Given the description of an element on the screen output the (x, y) to click on. 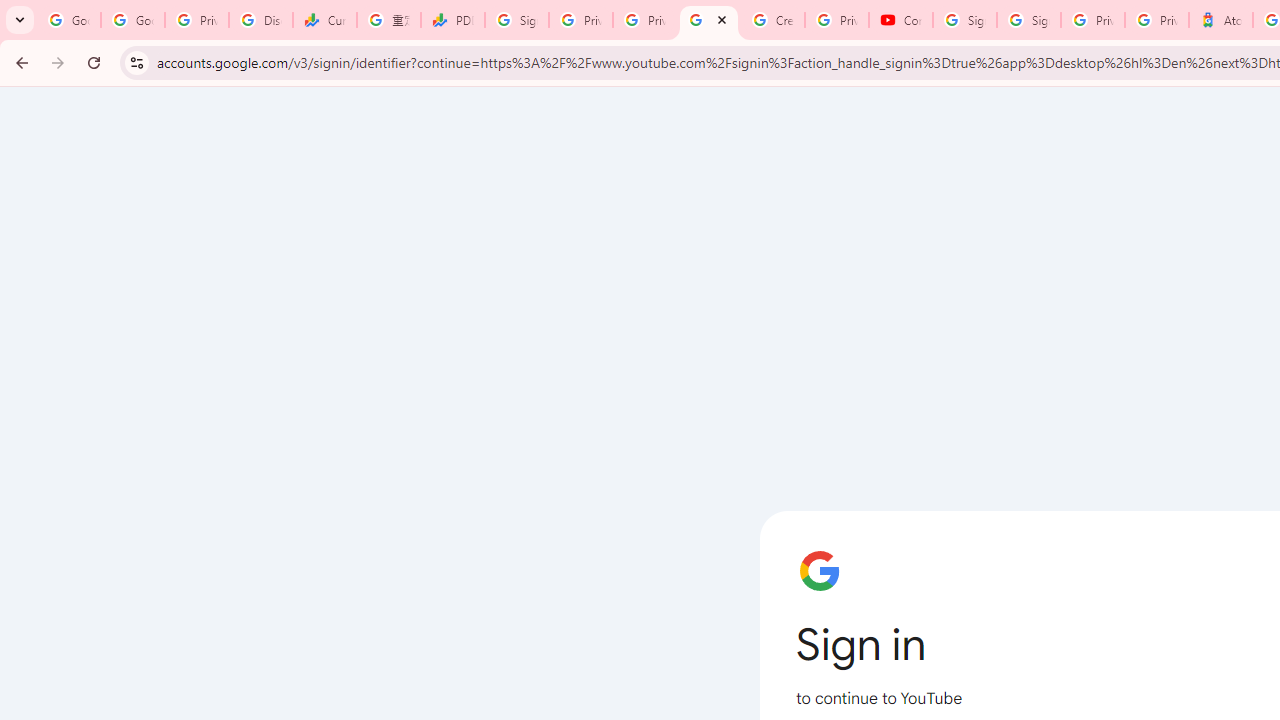
Sign in - Google Accounts (1029, 20)
YouTube (709, 20)
PDD Holdings Inc - ADR (PDD) Price & News - Google Finance (453, 20)
Create your Google Account (773, 20)
Sign in - Google Accounts (965, 20)
Sign in - Google Accounts (517, 20)
Content Creator Programs & Opportunities - YouTube Creators (901, 20)
